Given the description of an element on the screen output the (x, y) to click on. 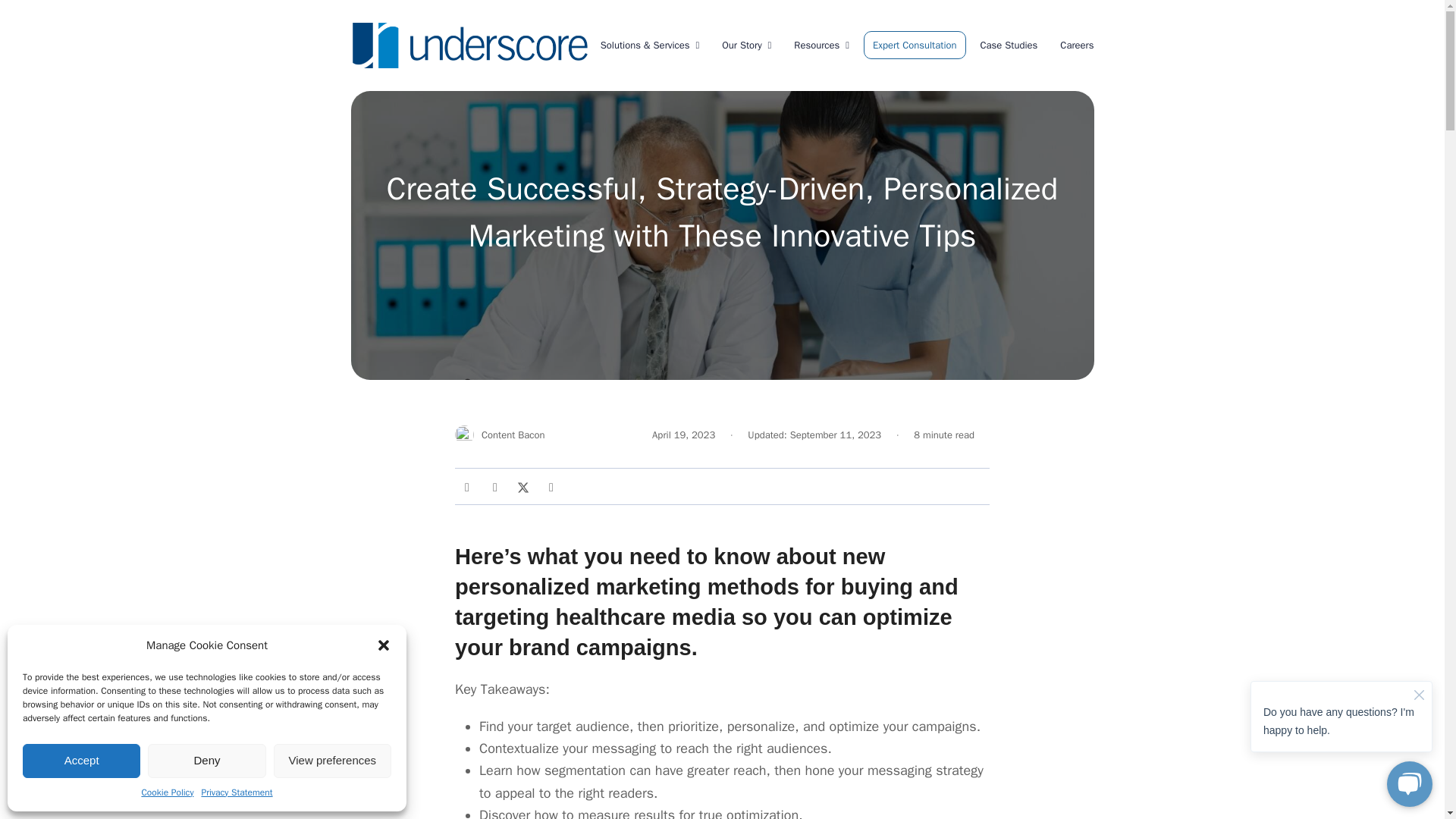
Accept (81, 759)
Privacy Statement (236, 792)
Cookie Policy (167, 792)
Our Story (746, 45)
View preferences (332, 759)
Deny (206, 759)
Resources (821, 45)
